Given the description of an element on the screen output the (x, y) to click on. 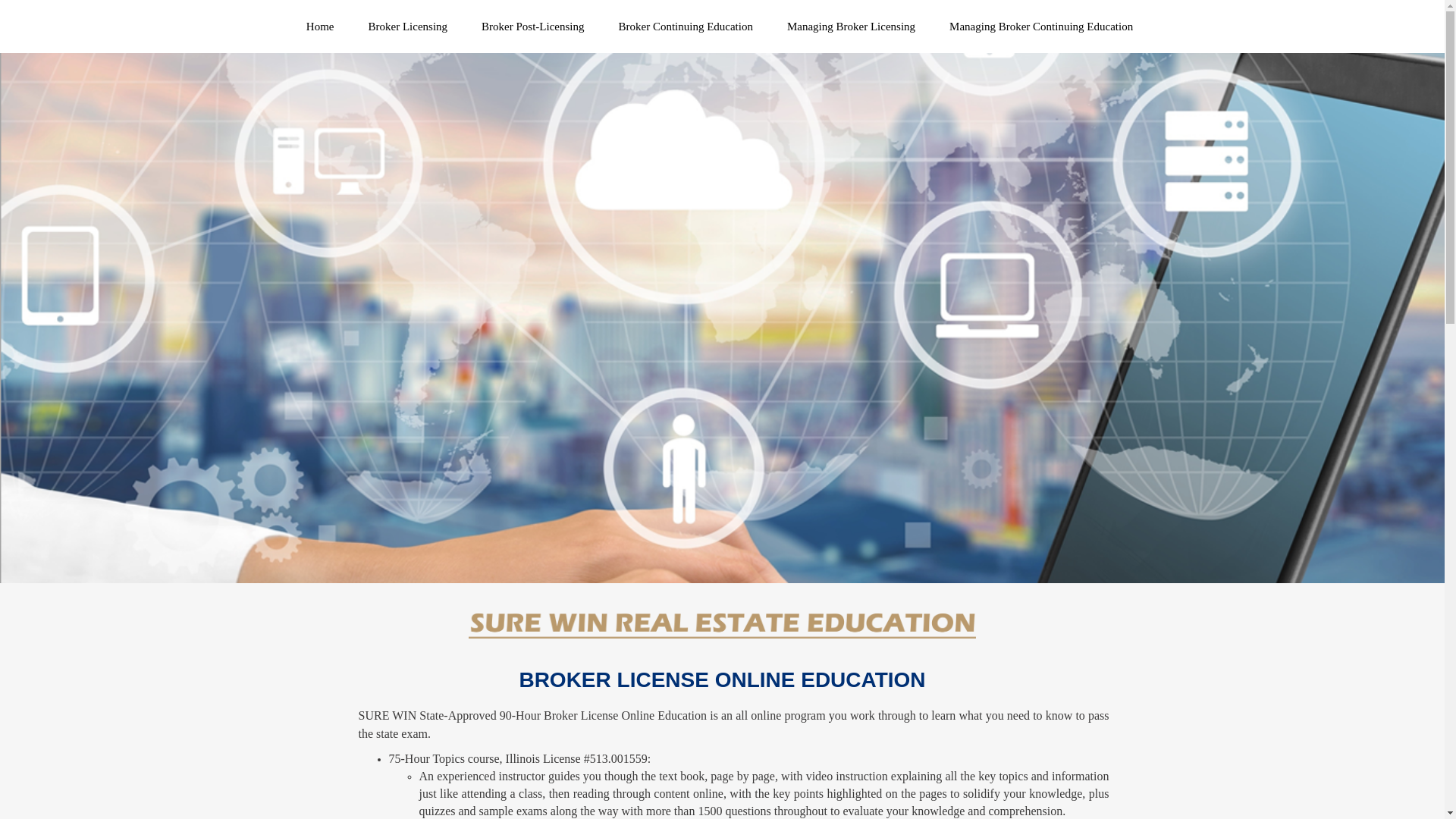
Managing Broker Licensing (851, 26)
Home (320, 26)
Broker Licensing (408, 26)
Managing Broker Continuing Education (1040, 26)
Broker Post-Licensing (532, 26)
Broker Continuing Education (685, 26)
